Given the description of an element on the screen output the (x, y) to click on. 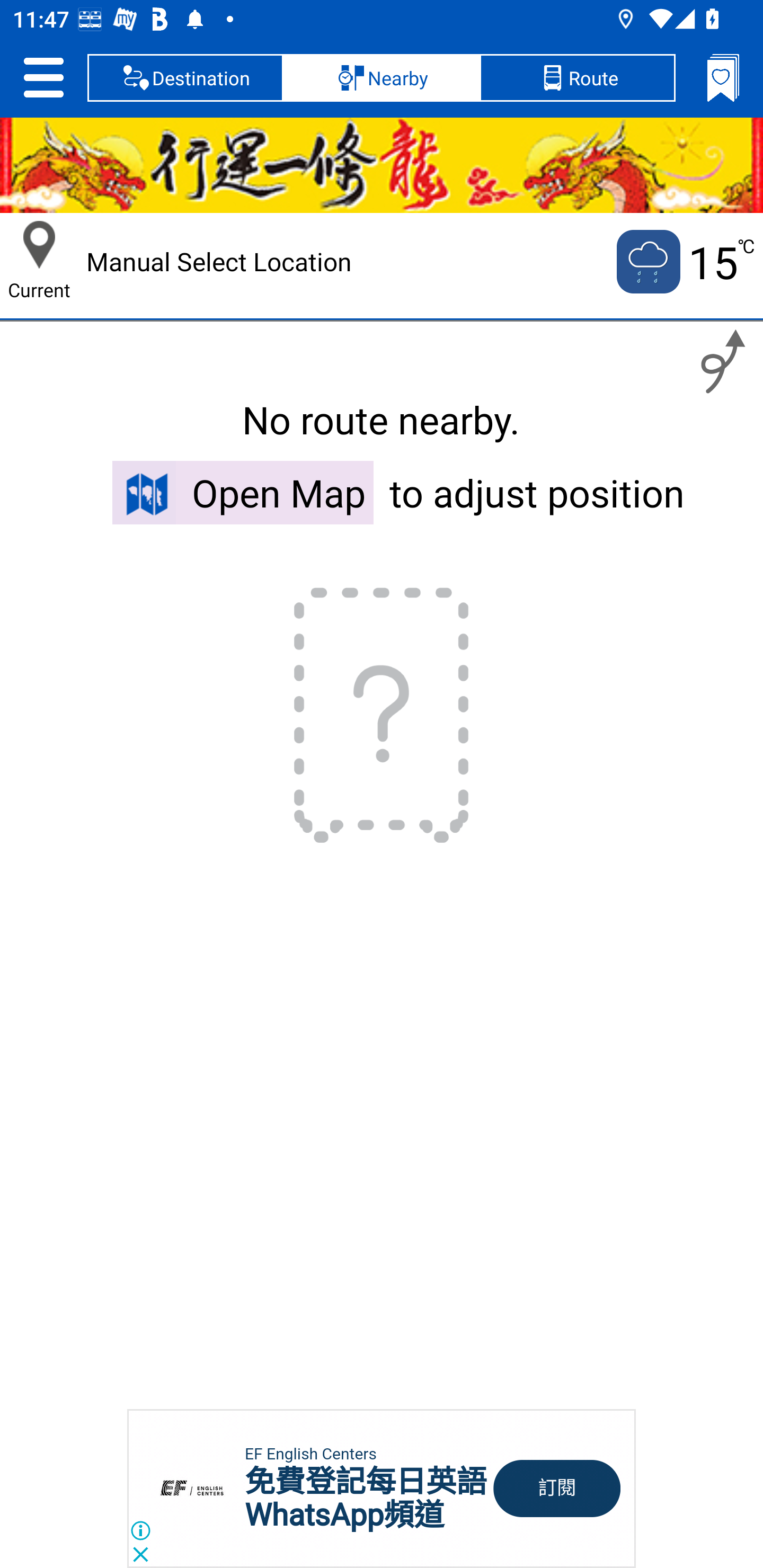
Destination (185, 77)
Nearby, selected (381, 77)
Route (577, 77)
Bookmarks (723, 77)
Setting (43, 77)
Lunar New Year 2024 (381, 165)
Current Location (38, 244)
Current temputure is  15  no 15 ℃ (684, 261)
Open Map (242, 491)
EF English Centers (310, 1454)
訂閱 (556, 1488)
免費登記每日英語 WhatsApp頻道 免費登記每日英語 WhatsApp頻道 (365, 1497)
